Given the description of an element on the screen output the (x, y) to click on. 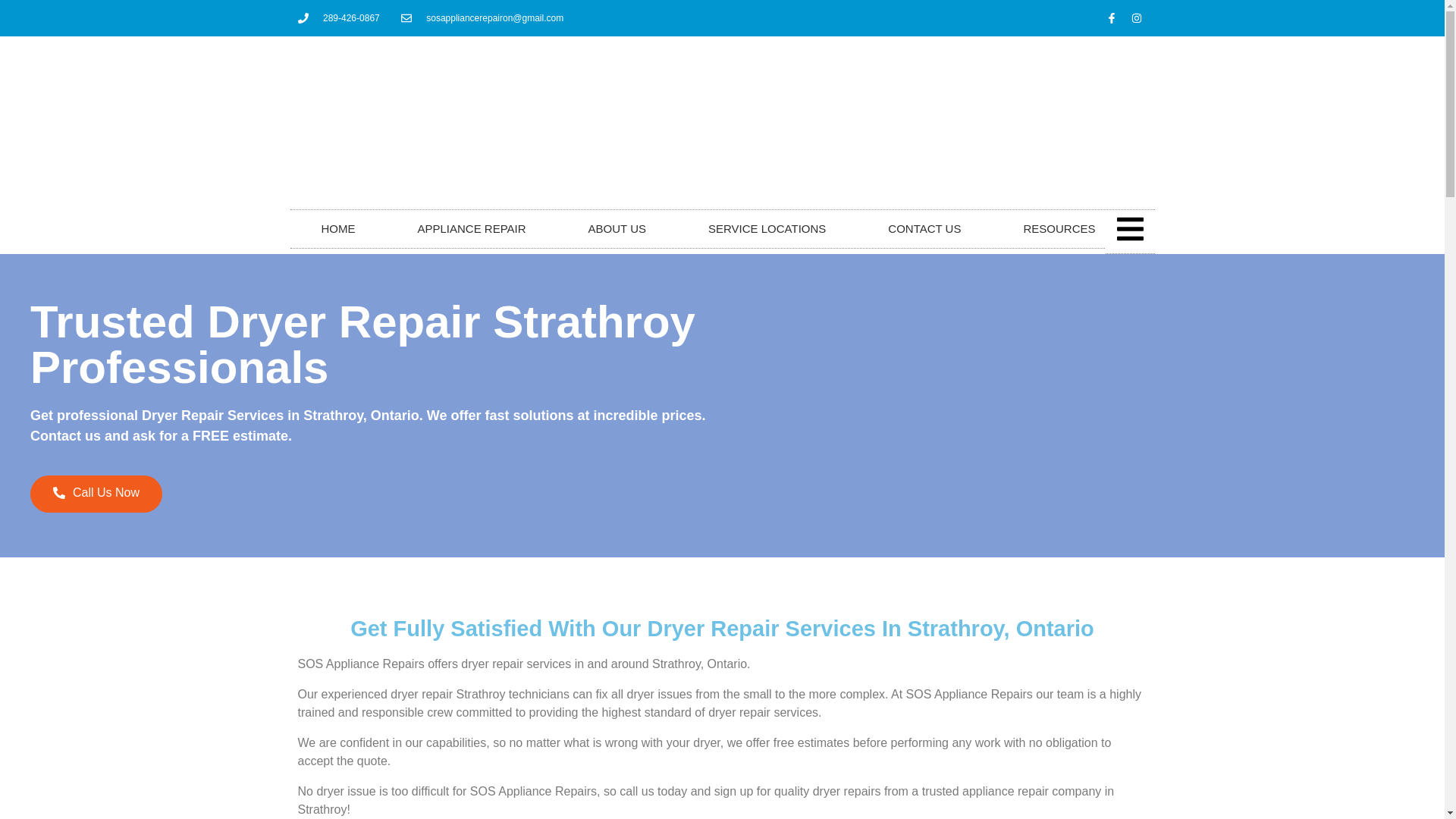
APPLIANCE REPAIR (472, 228)
HOME (337, 228)
ABOUT US (617, 228)
SERVICE LOCATIONS (767, 228)
289-426-0867 (337, 18)
